Given the description of an element on the screen output the (x, y) to click on. 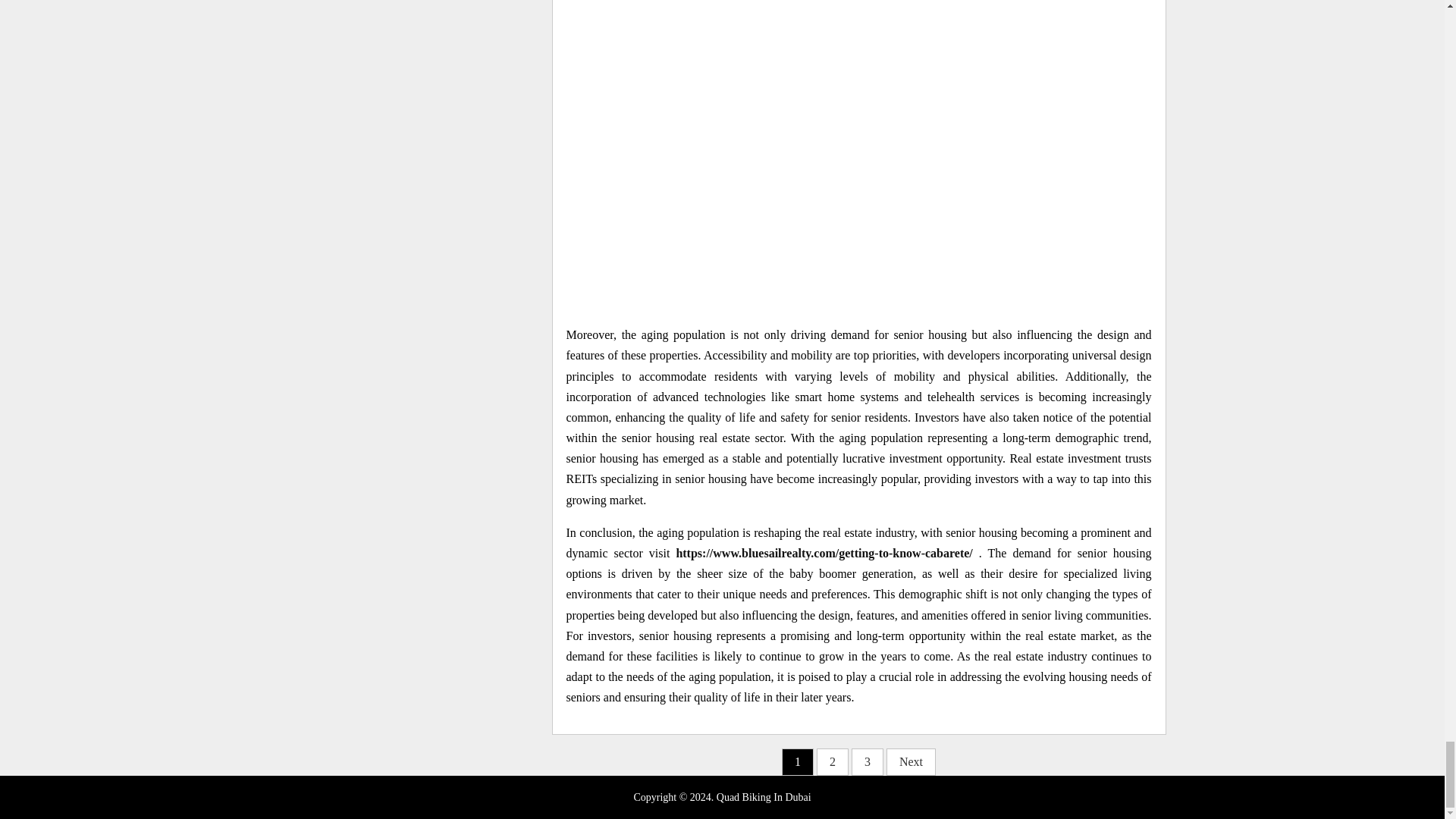
3 (867, 761)
Next (911, 761)
2 (832, 761)
